Given the description of an element on the screen output the (x, y) to click on. 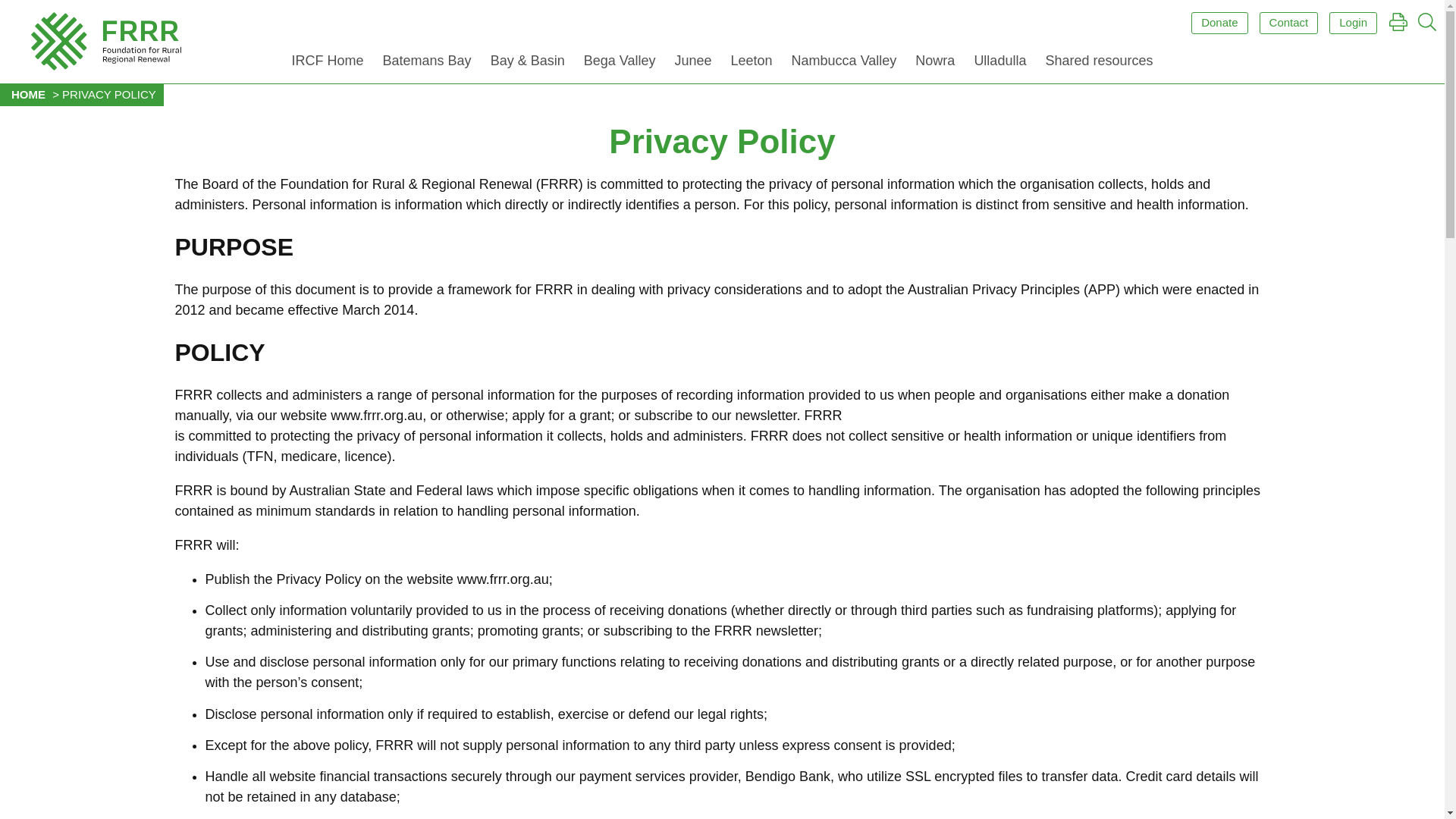
Nowra (934, 64)
Contact (1289, 23)
Batemans Bay (427, 64)
Shared resources (1098, 64)
Junee (692, 64)
IRCF Home (327, 64)
Nambucca Valley (844, 64)
Leeton (751, 64)
Ulladulla (999, 64)
Bega Valley (619, 64)
Donate (1219, 23)
